Given the description of an element on the screen output the (x, y) to click on. 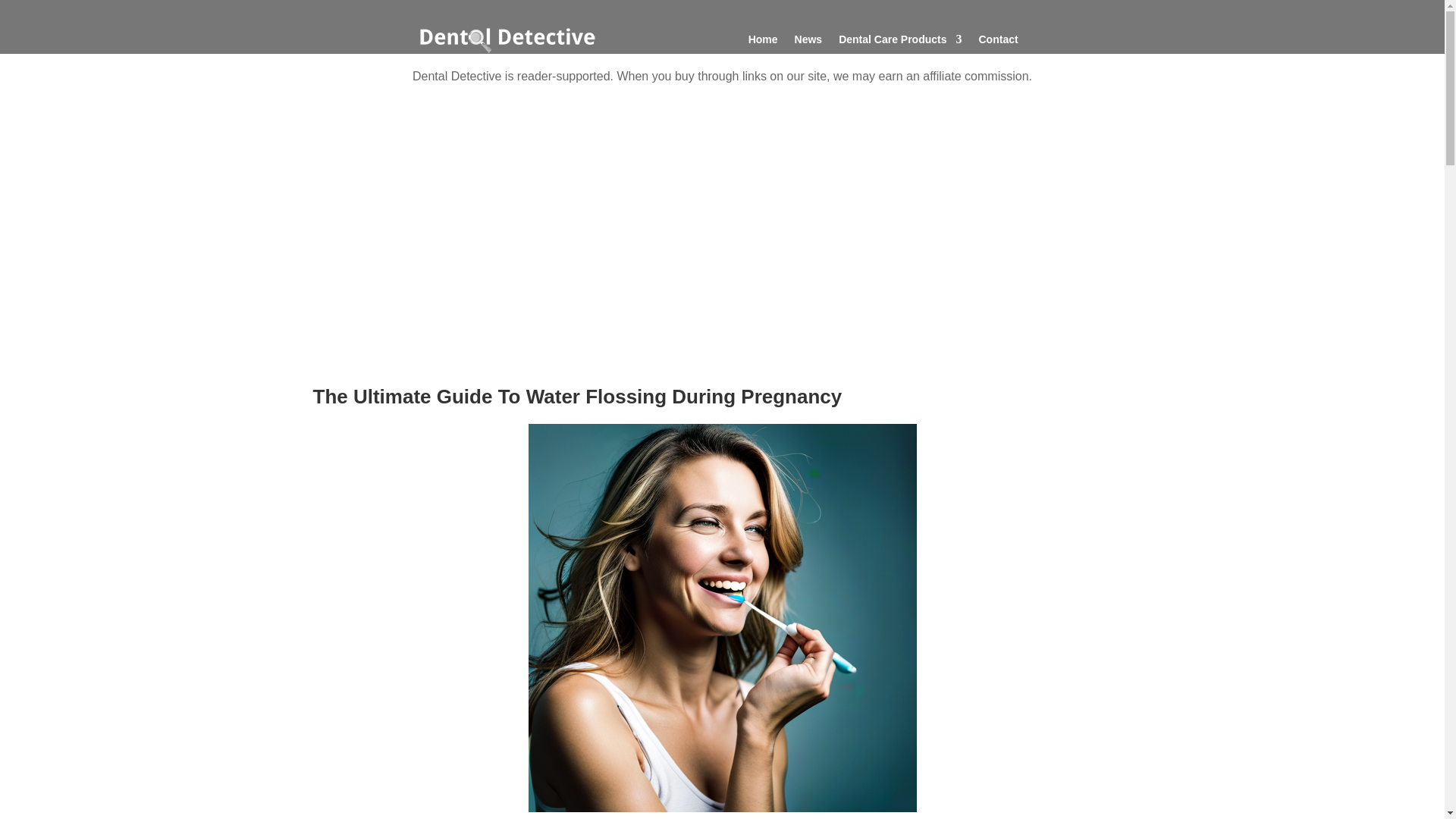
Dental Care Products (899, 42)
Home (762, 42)
News (808, 42)
Contact (997, 42)
